Given the description of an element on the screen output the (x, y) to click on. 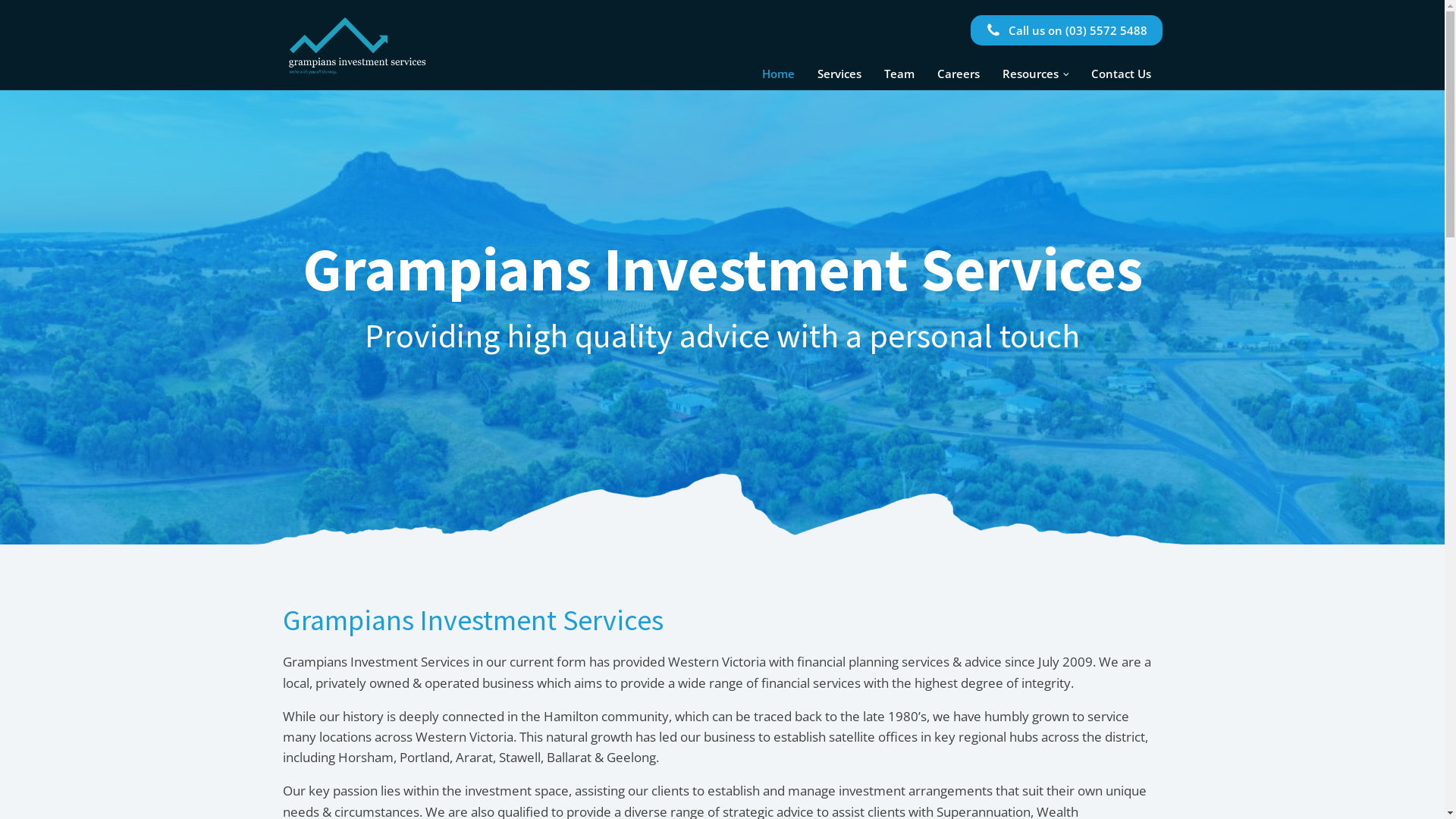
Home Element type: hover (357, 45)
Contact Us Element type: text (1120, 73)
Team Element type: text (899, 73)
Home Element type: text (778, 73)
Resources Element type: text (1035, 73)
Call us on (03) 5572 5488 Element type: text (1066, 30)
Services Element type: text (839, 73)
Careers Element type: text (958, 73)
